Given the description of an element on the screen output the (x, y) to click on. 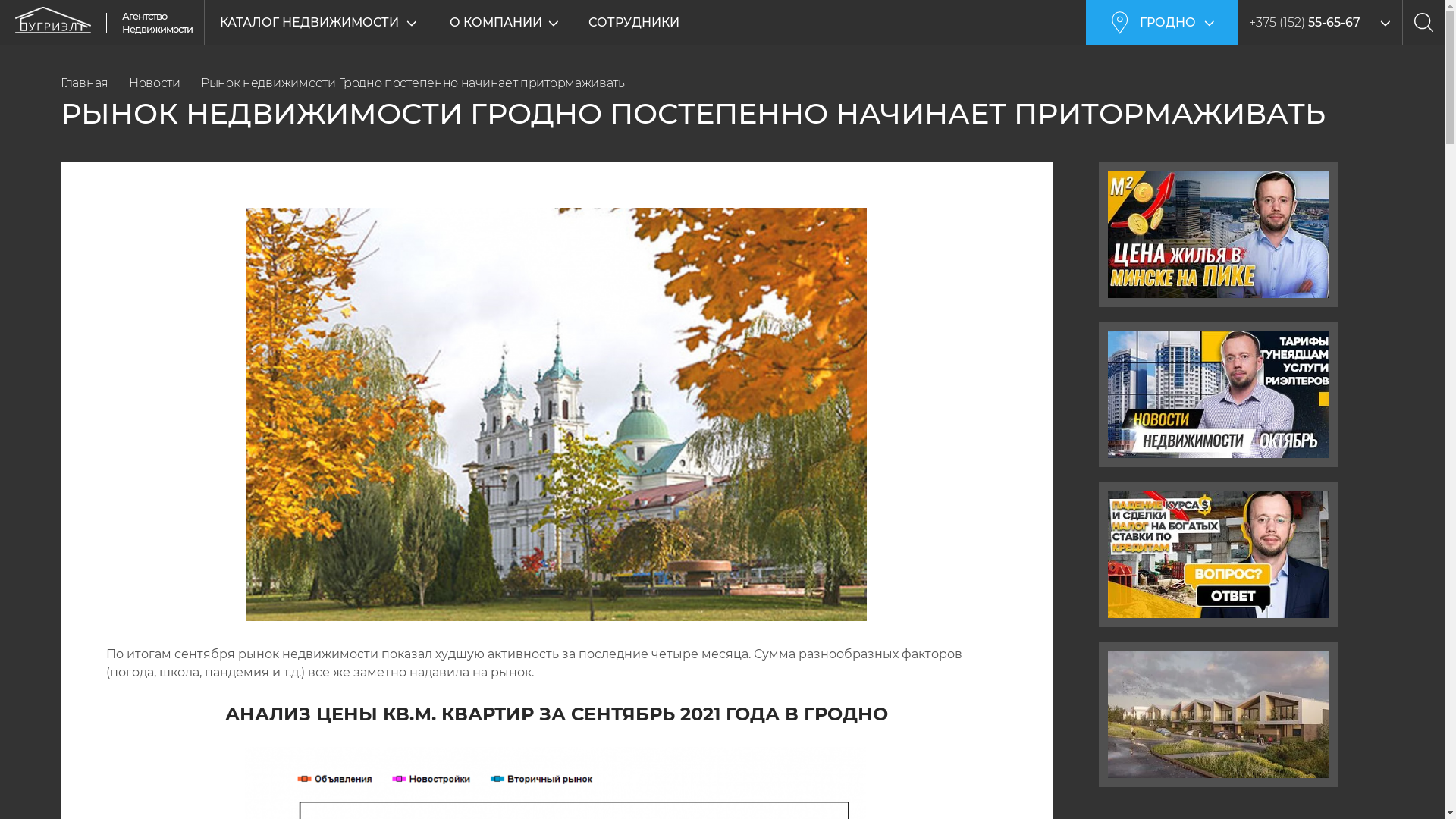
Screenshot_2.jpg Element type: hover (555, 414)
